Given the description of an element on the screen output the (x, y) to click on. 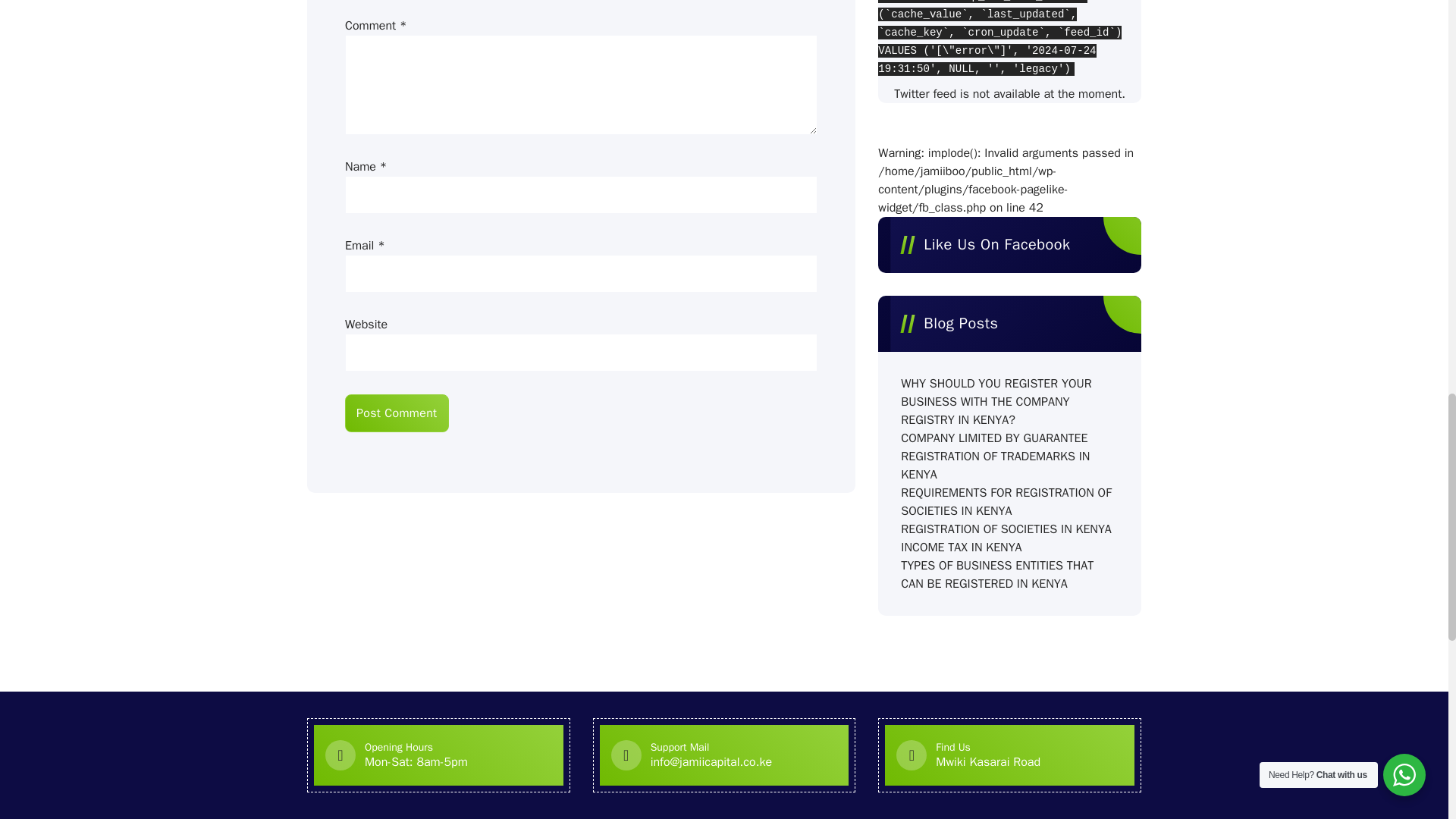
Post Comment (396, 412)
